Given the description of an element on the screen output the (x, y) to click on. 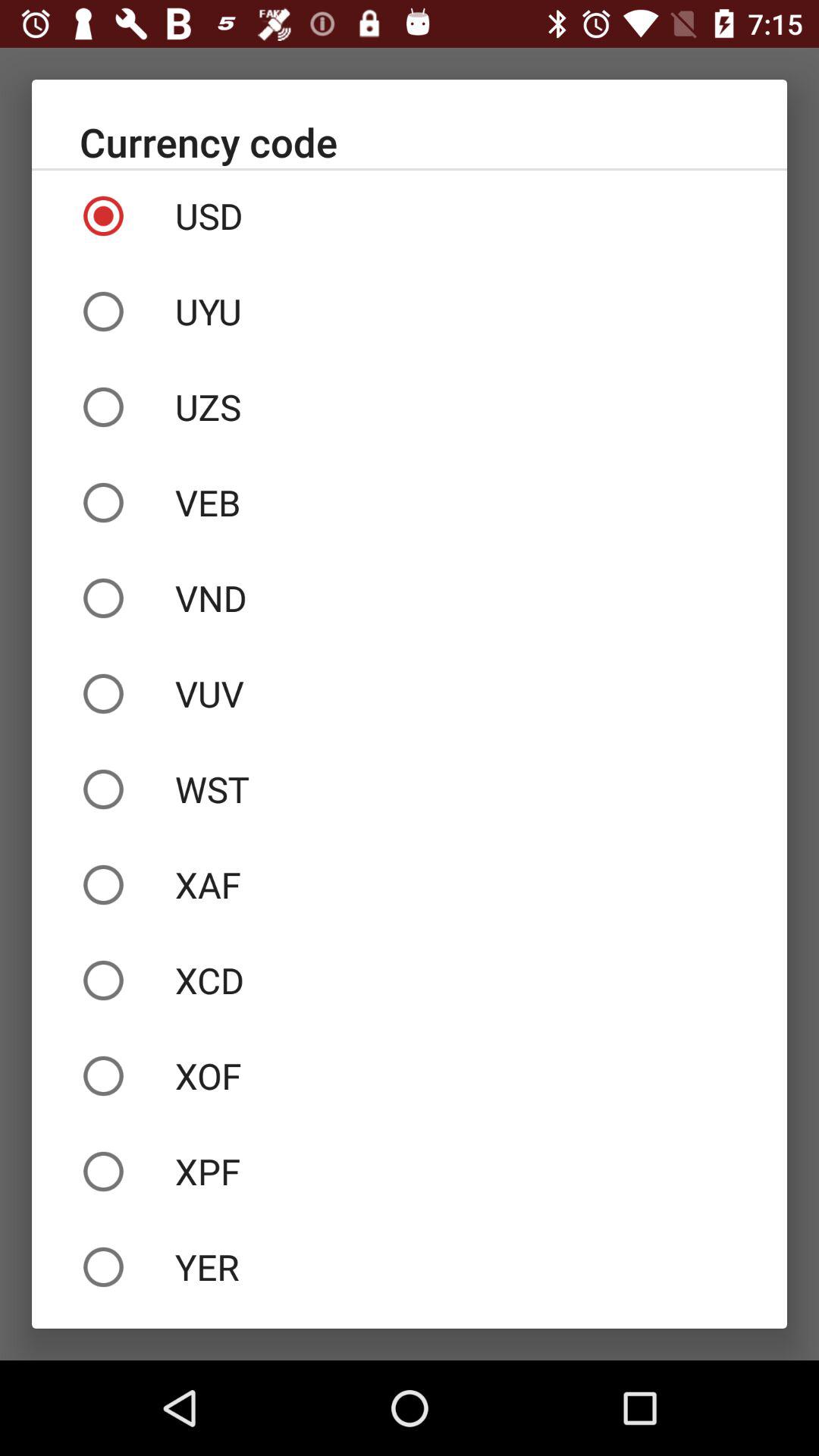
launch the icon above the vuv icon (409, 598)
